Given the description of an element on the screen output the (x, y) to click on. 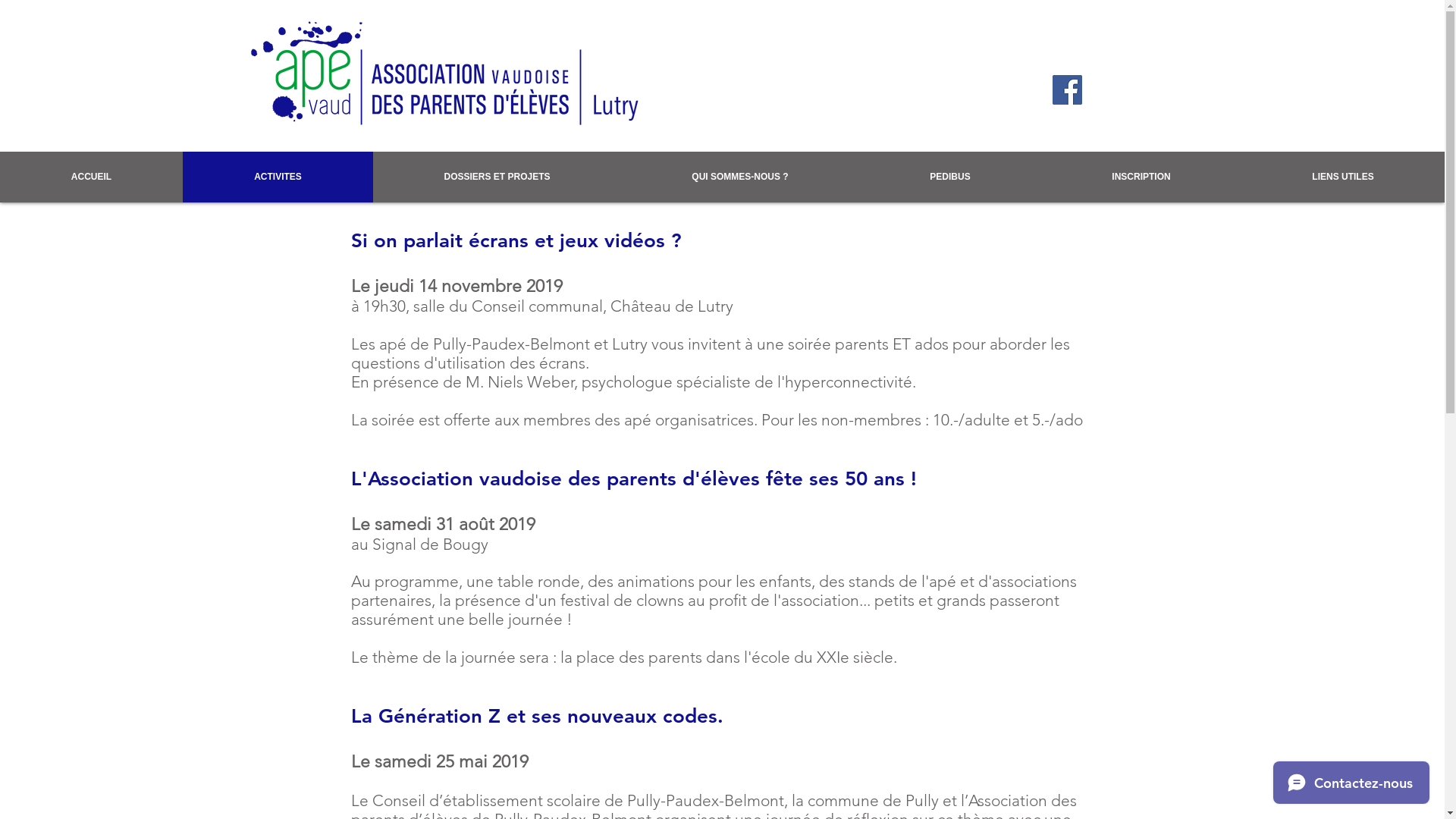
PEDIBUS Element type: text (950, 176)
ACTIVITES Element type: text (277, 176)
INSCRIPTION Element type: text (1141, 176)
LIENS UTILES Element type: text (1342, 176)
ACCUEIL Element type: text (91, 176)
DOSSIERS ET PROJETS Element type: text (497, 176)
QUI SOMMES-NOUS ? Element type: text (740, 176)
